Given the description of an element on the screen output the (x, y) to click on. 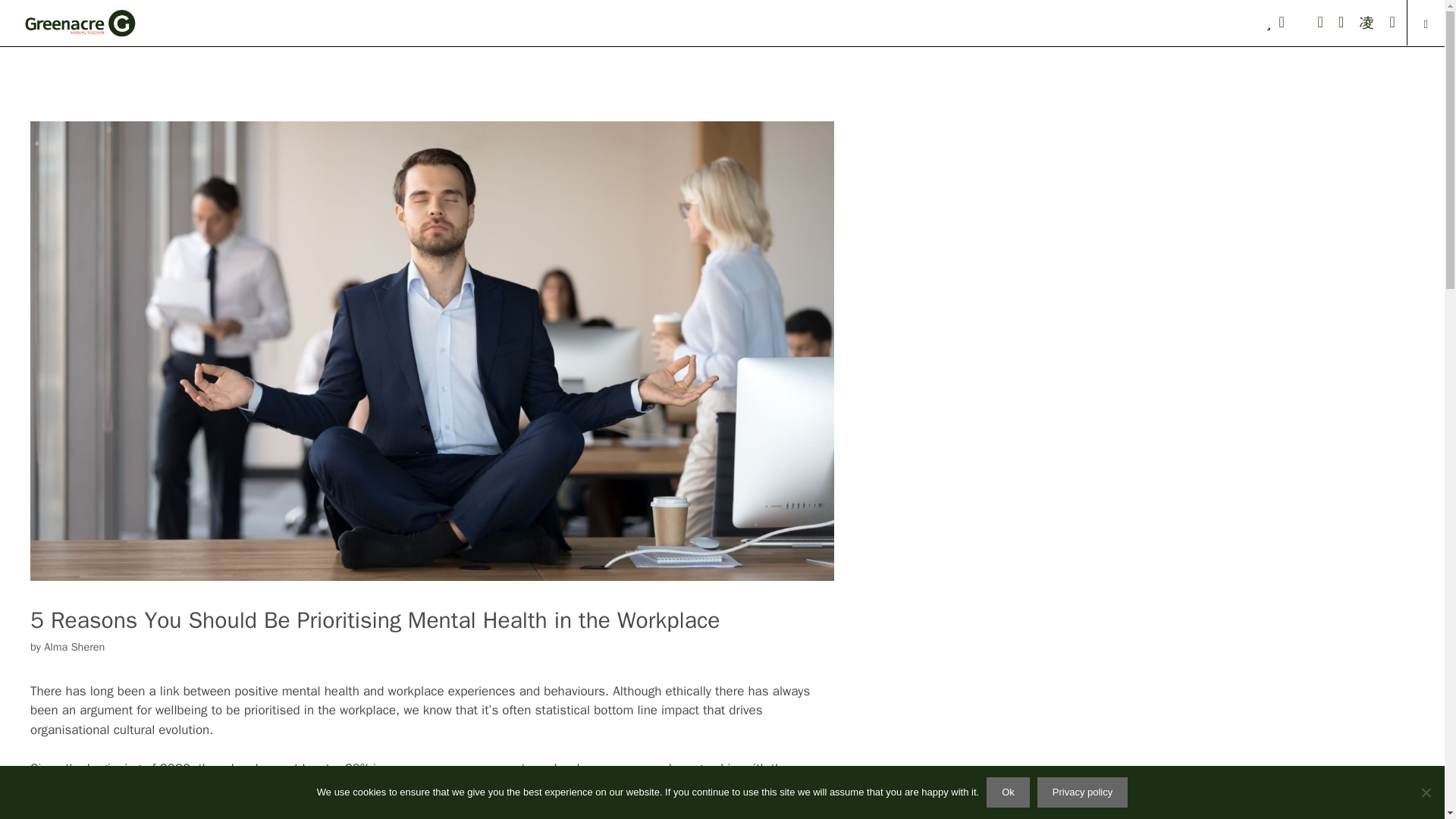
Greenacre Recruitment Ltd (79, 22)
Alma Sheren (73, 646)
View all posts by Alma Sheren (73, 646)
No (1425, 792)
The Workforce Institute at UKG (638, 806)
